Given the description of an element on the screen output the (x, y) to click on. 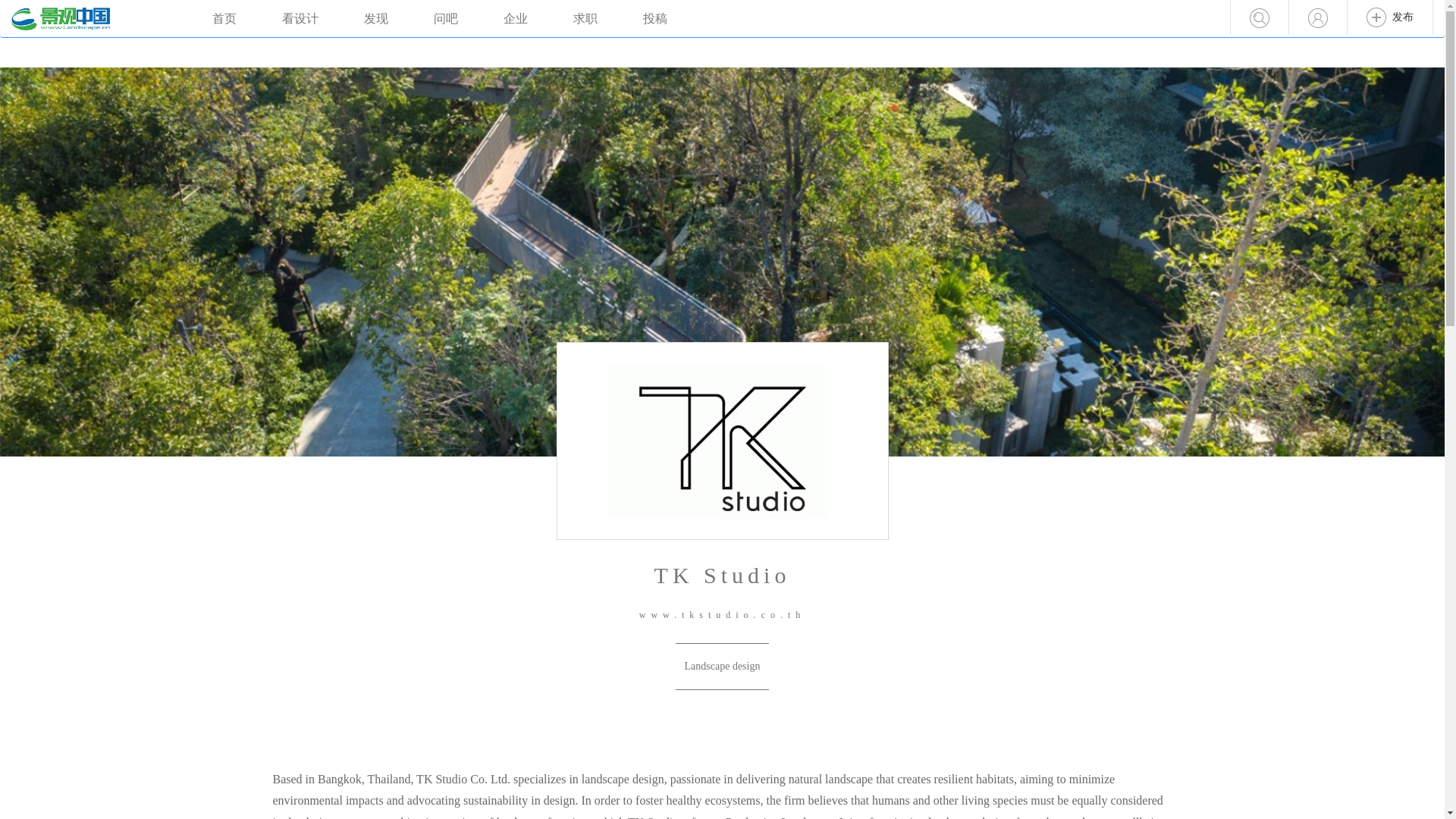
Landscape design (722, 665)
